Given the description of an element on the screen output the (x, y) to click on. 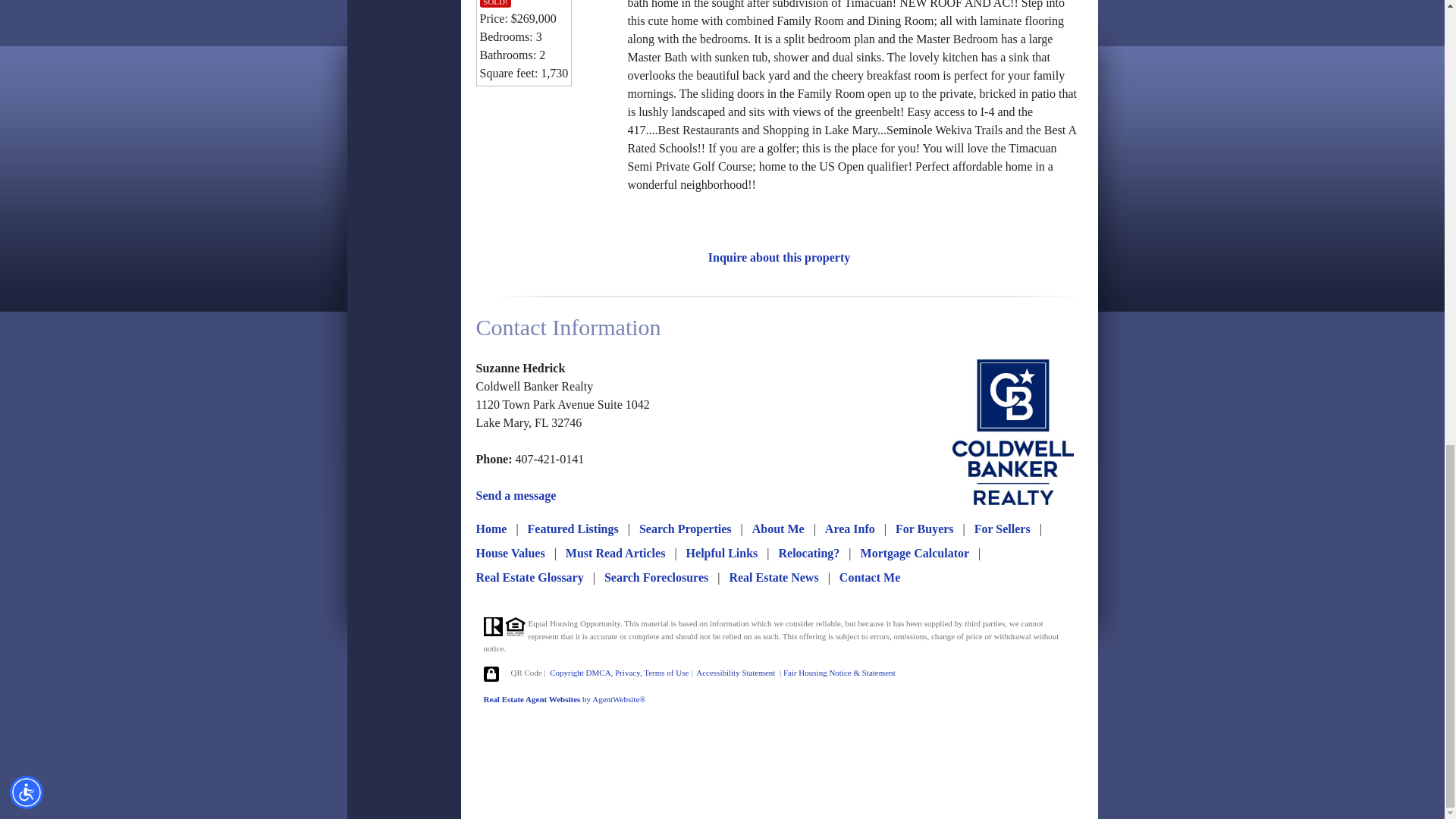
Send a message (516, 495)
About Me (778, 528)
Home (491, 528)
Featured Listings (572, 528)
Inquire about this property (778, 256)
Search Properties (685, 528)
Facebook like button (528, 123)
